Given the description of an element on the screen output the (x, y) to click on. 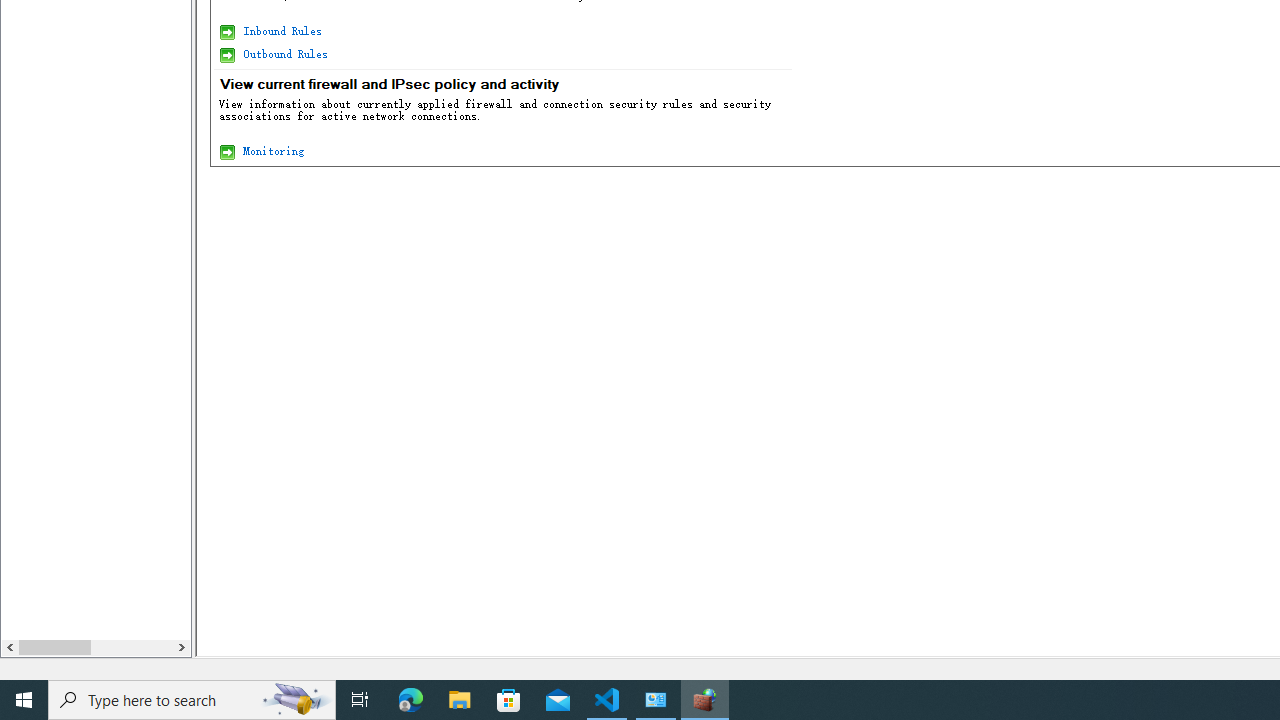
Monitoring (271, 150)
Control Panel - 1 running window (656, 699)
Outbound Rules (283, 53)
Column left (10, 647)
Horizontal (95, 647)
Inbound Rules (280, 30)
